Given the description of an element on the screen output the (x, y) to click on. 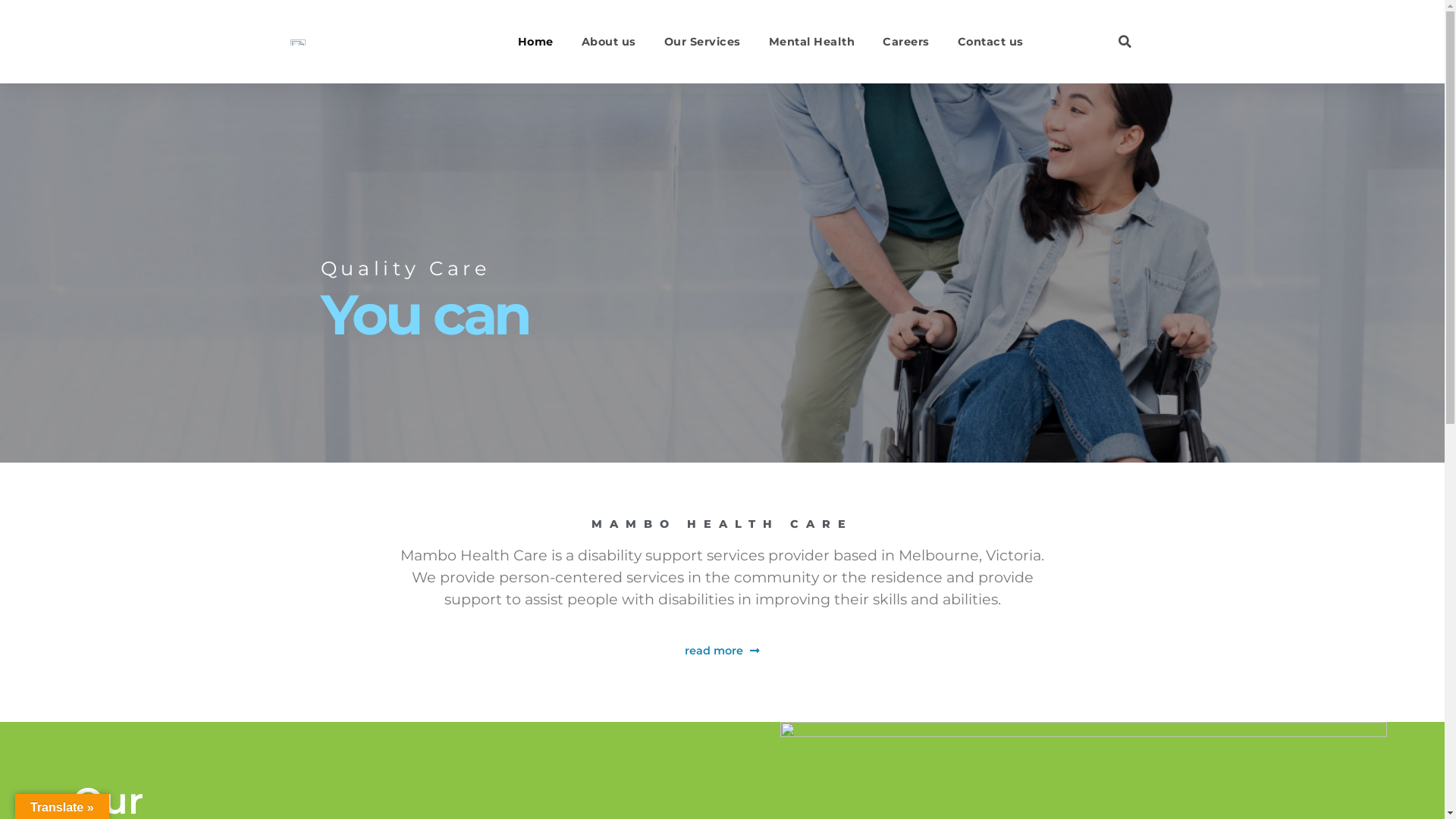
Contact us Element type: text (990, 41)
Mental Health Element type: text (811, 41)
Careers Element type: text (905, 41)
Our Services Element type: text (702, 41)
About us Element type: text (608, 41)
Home Element type: text (535, 41)
read more Element type: text (722, 650)
